Given the description of an element on the screen output the (x, y) to click on. 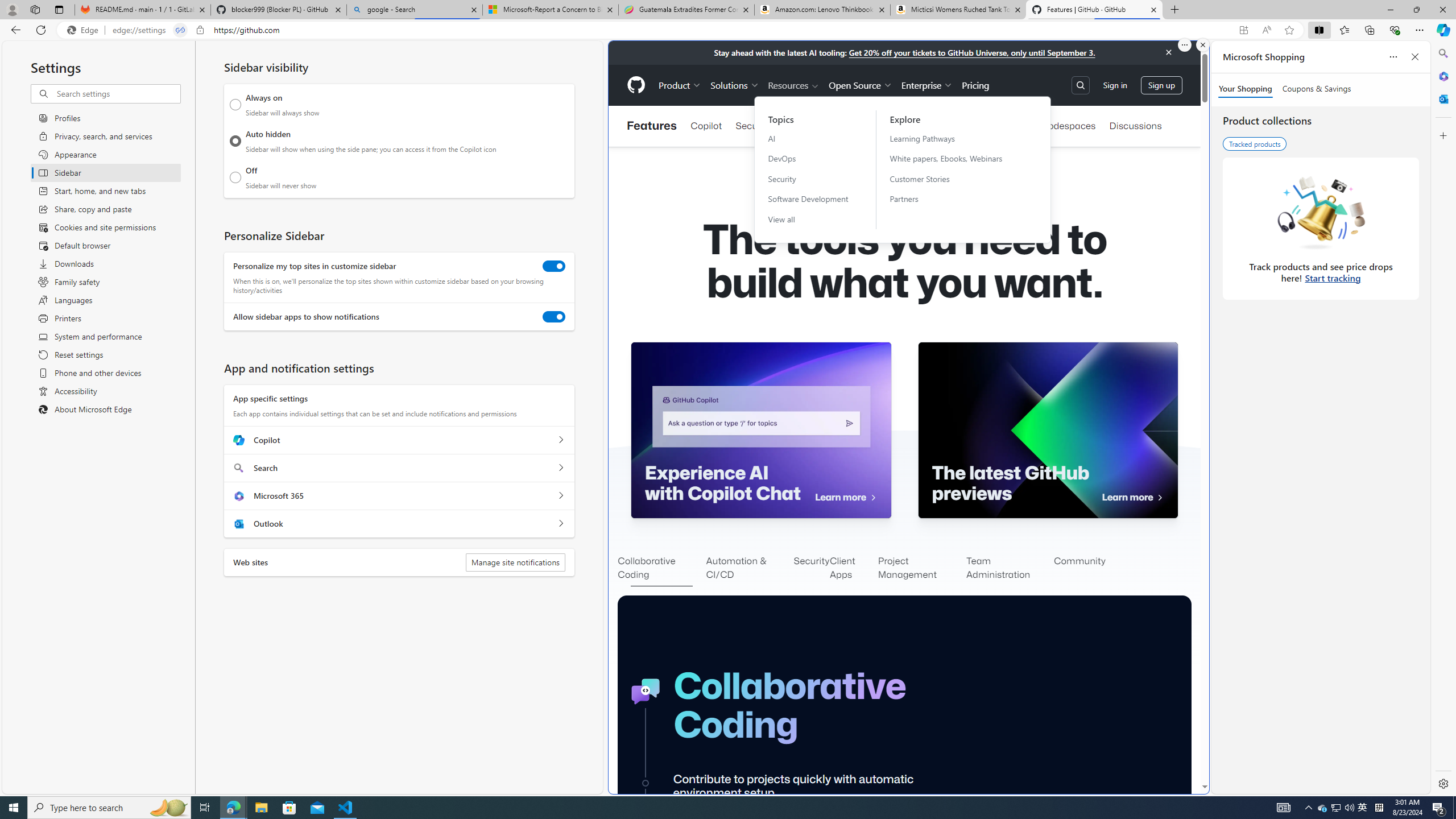
App available. Install  (1243, 29)
Community (1079, 568)
Always on Sidebar will always show (235, 104)
Edge (84, 29)
Security (811, 568)
Collaborative Coding (661, 568)
